Given the description of an element on the screen output the (x, y) to click on. 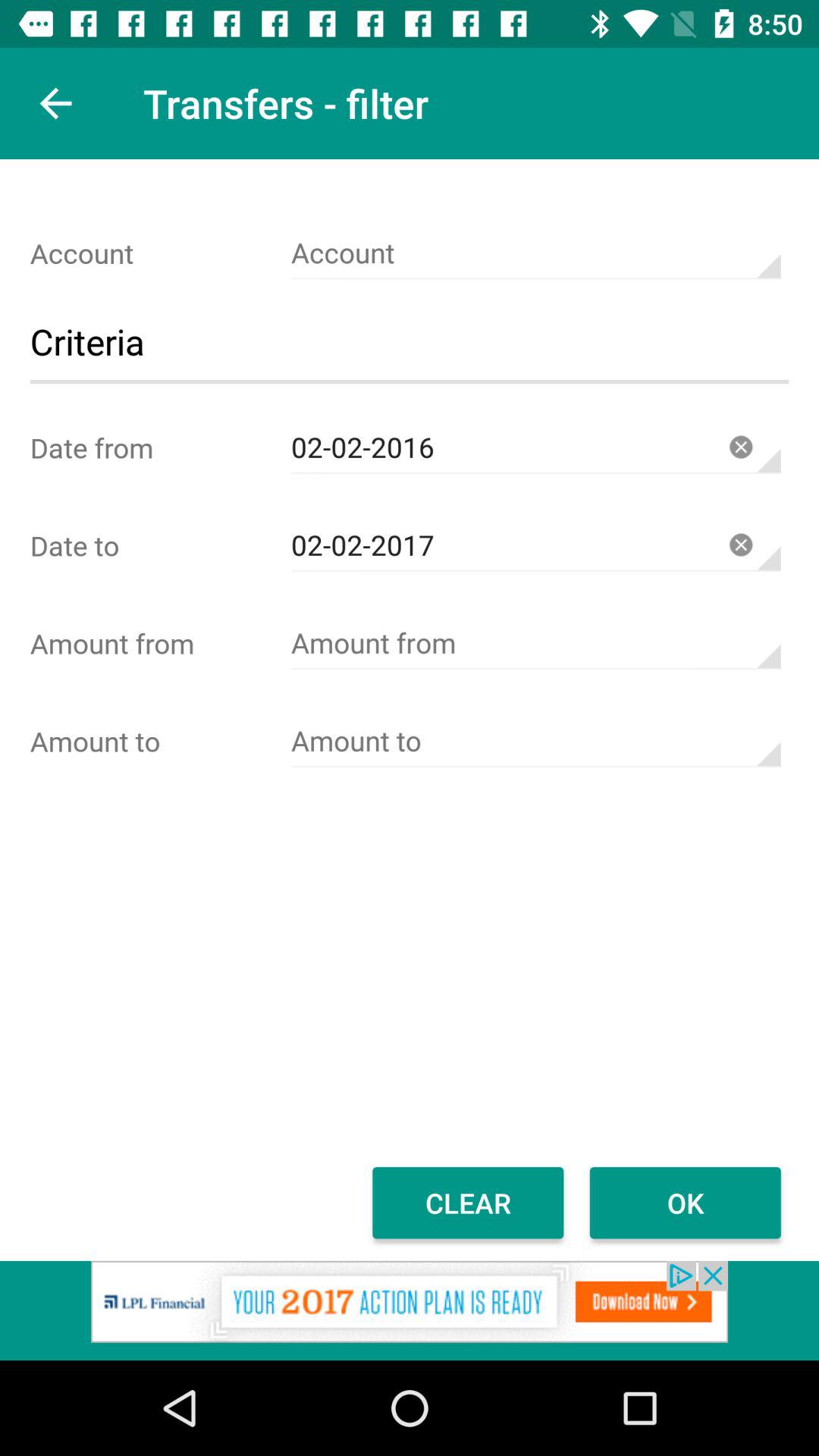
enter account number (535, 253)
